Given the description of an element on the screen output the (x, y) to click on. 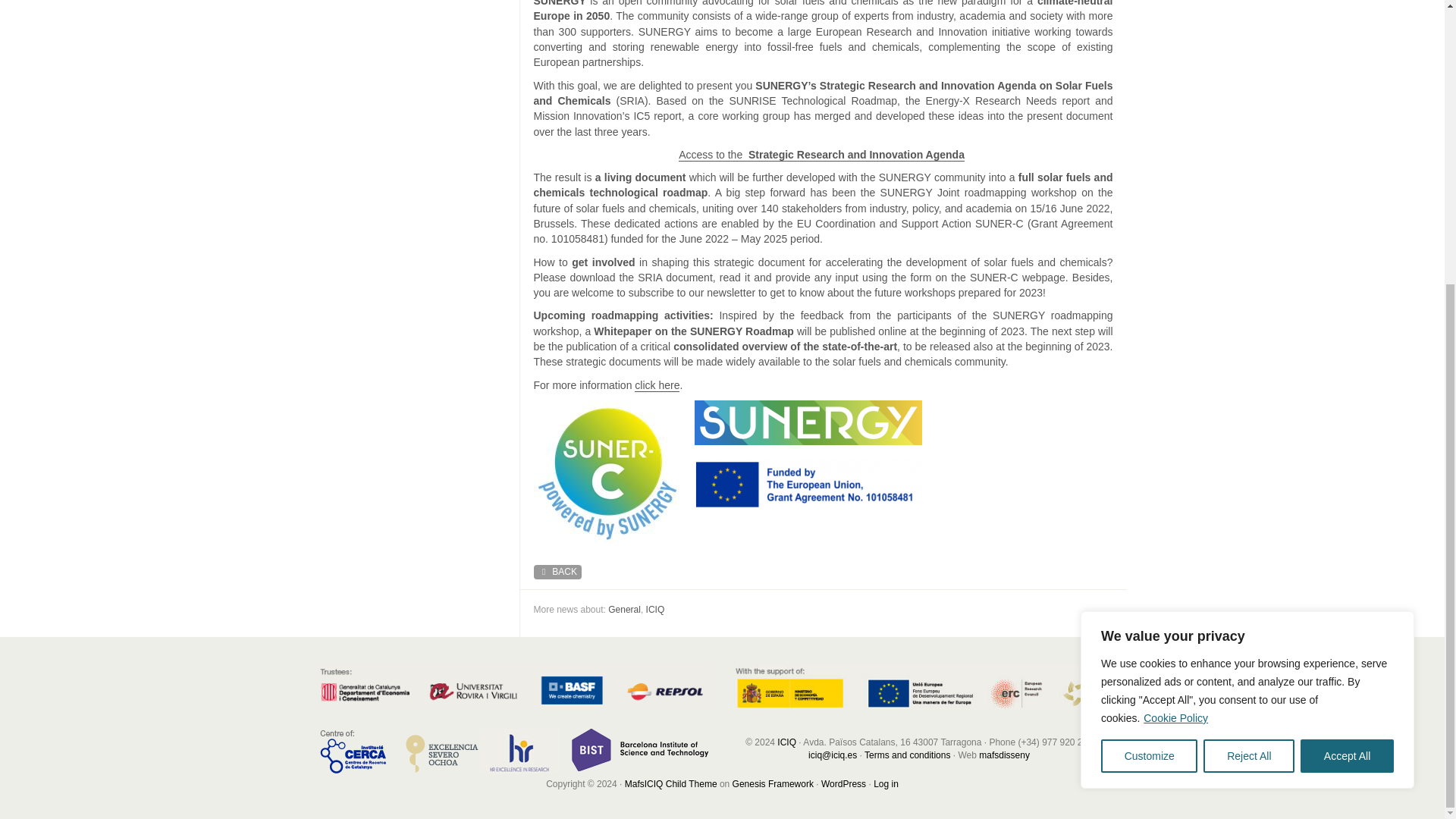
click here (656, 385)
Reject All (1249, 328)
Access to the   (713, 154)
terms and conditions (907, 755)
Strategic Research and Innovation Agenda (855, 154)
Customize (1148, 328)
Cookie Policy (1175, 291)
Accept All (1346, 328)
mafs disseny grafic i web tarragona (1003, 755)
